Given the description of an element on the screen output the (x, y) to click on. 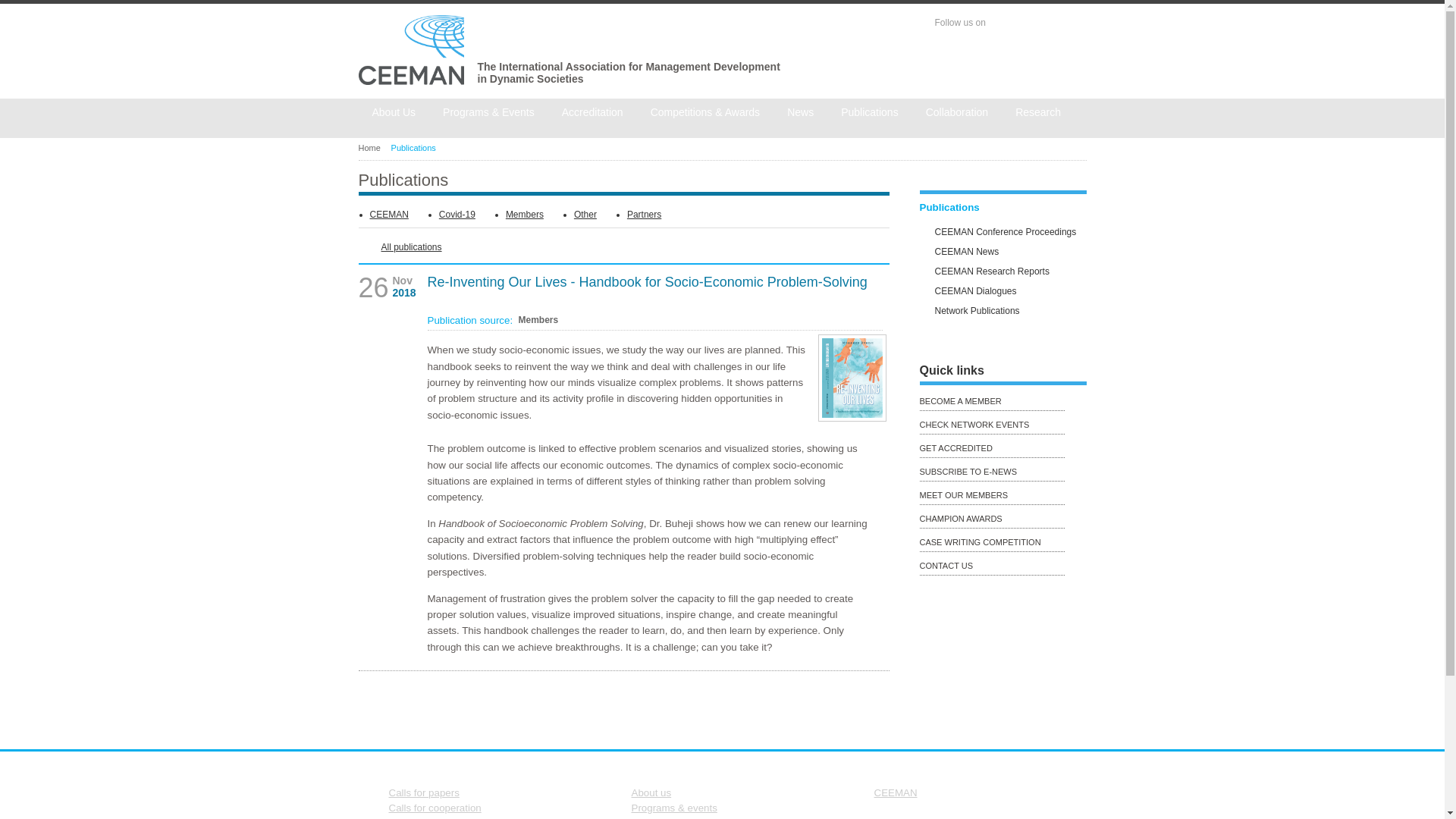
Publications (1002, 211)
Publications (417, 147)
Search (1075, 63)
About Us (393, 113)
CEEMAN Research Reports (1017, 273)
Share on LinkedIn (877, 706)
CEEMAN News (1017, 254)
CHECK NETWORK EVENTS (1002, 425)
CEEMAN (389, 214)
Search (1075, 63)
Facebook (1004, 22)
Other (584, 214)
Accreditation (592, 113)
All publications (399, 247)
GET ACCREDITED (1002, 448)
